Given the description of an element on the screen output the (x, y) to click on. 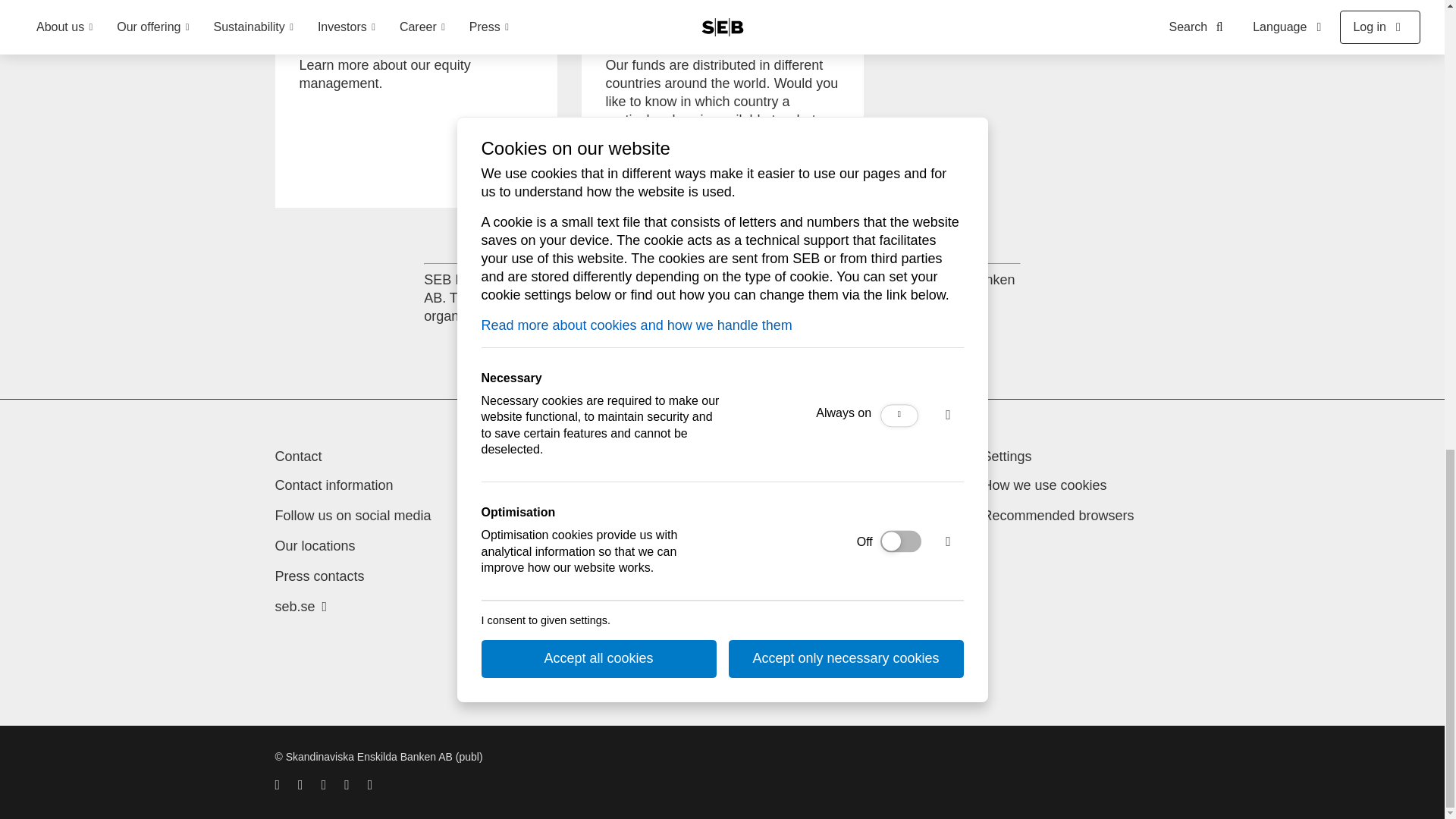
seb.se (300, 606)
Contact information (334, 485)
Follow us on social media (352, 515)
Contact information (334, 485)
Our locations (315, 545)
Settings (415, 108)
Press contacts (1044, 485)
Privacy at SEB Group (319, 575)
